Given the description of an element on the screen output the (x, y) to click on. 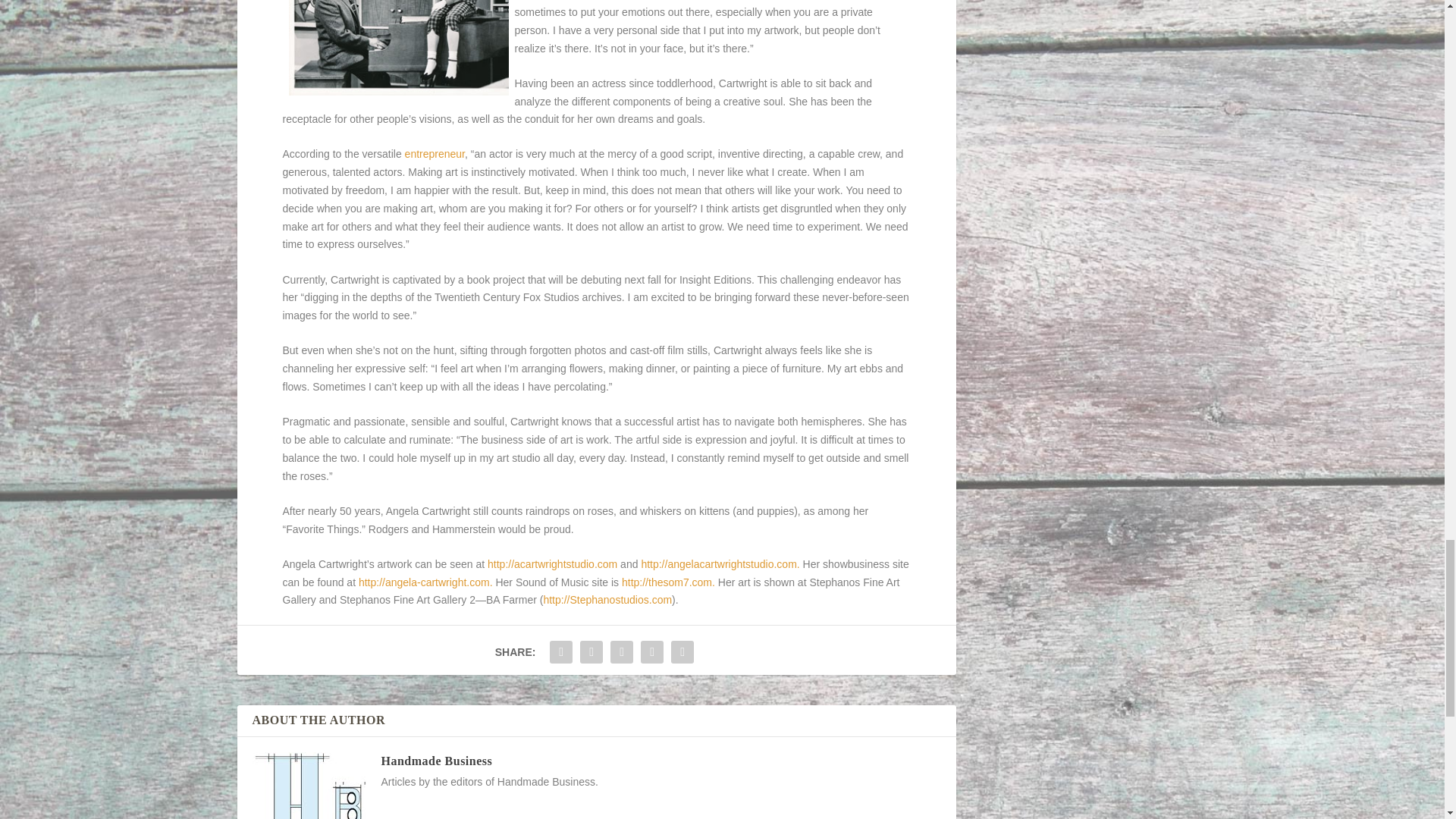
View all posts by Handmade Business (436, 760)
entrepreneur (434, 153)
